Given the description of an element on the screen output the (x, y) to click on. 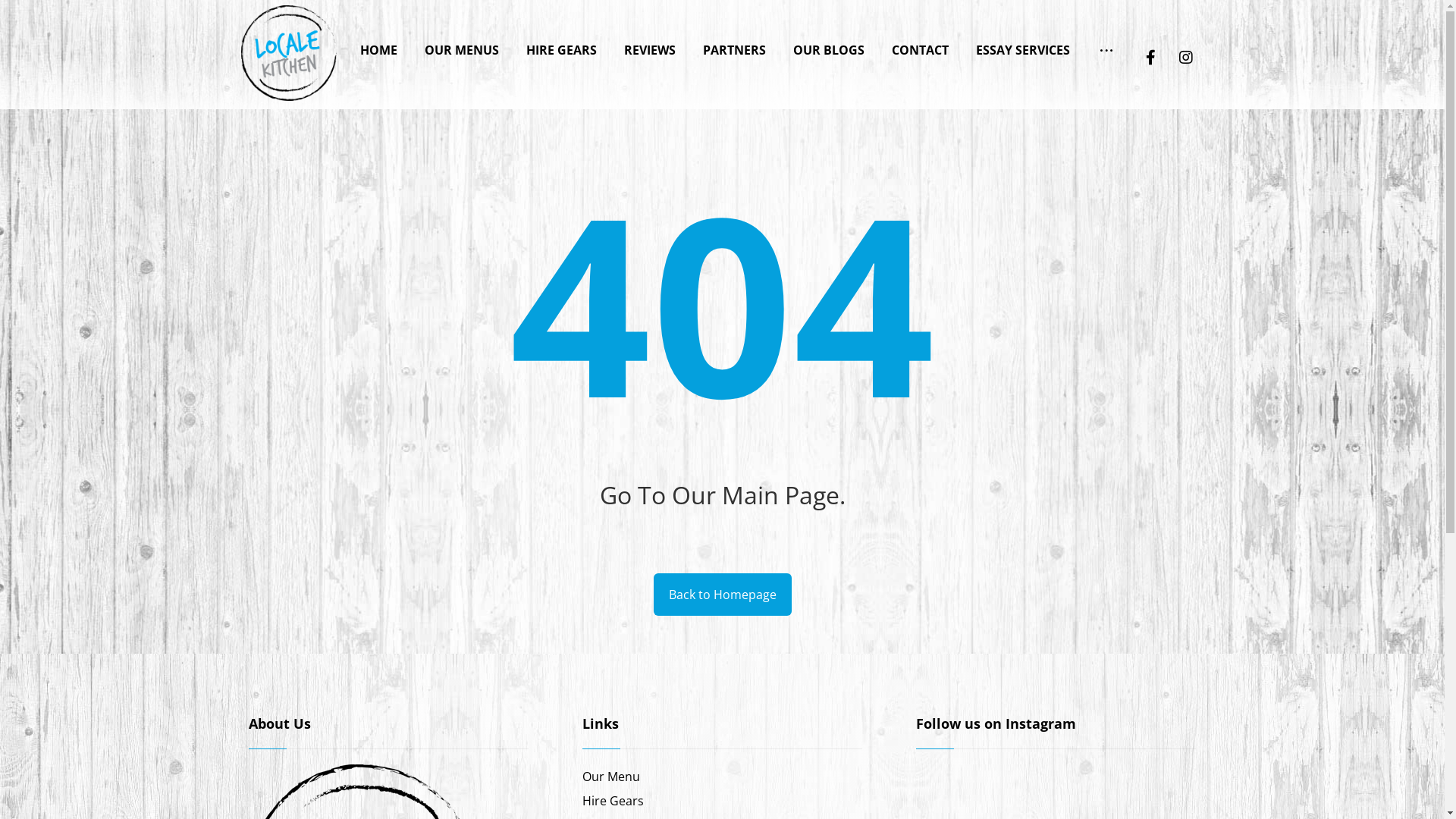
REVIEWS Element type: text (649, 42)
PARTNERS Element type: text (734, 42)
HOME Element type: text (378, 42)
ESSAY SERVICES Element type: text (1022, 42)
CONTACT Element type: text (919, 42)
Hire Gears Element type: text (612, 800)
   Element type: text (1106, 42)
OUR MENUS Element type: text (461, 42)
OUR BLOGS Element type: text (828, 42)
Our Menu Element type: text (611, 776)
HIRE GEARS Element type: text (561, 42)
Back to Homepage Element type: text (722, 594)
